Given the description of an element on the screen output the (x, y) to click on. 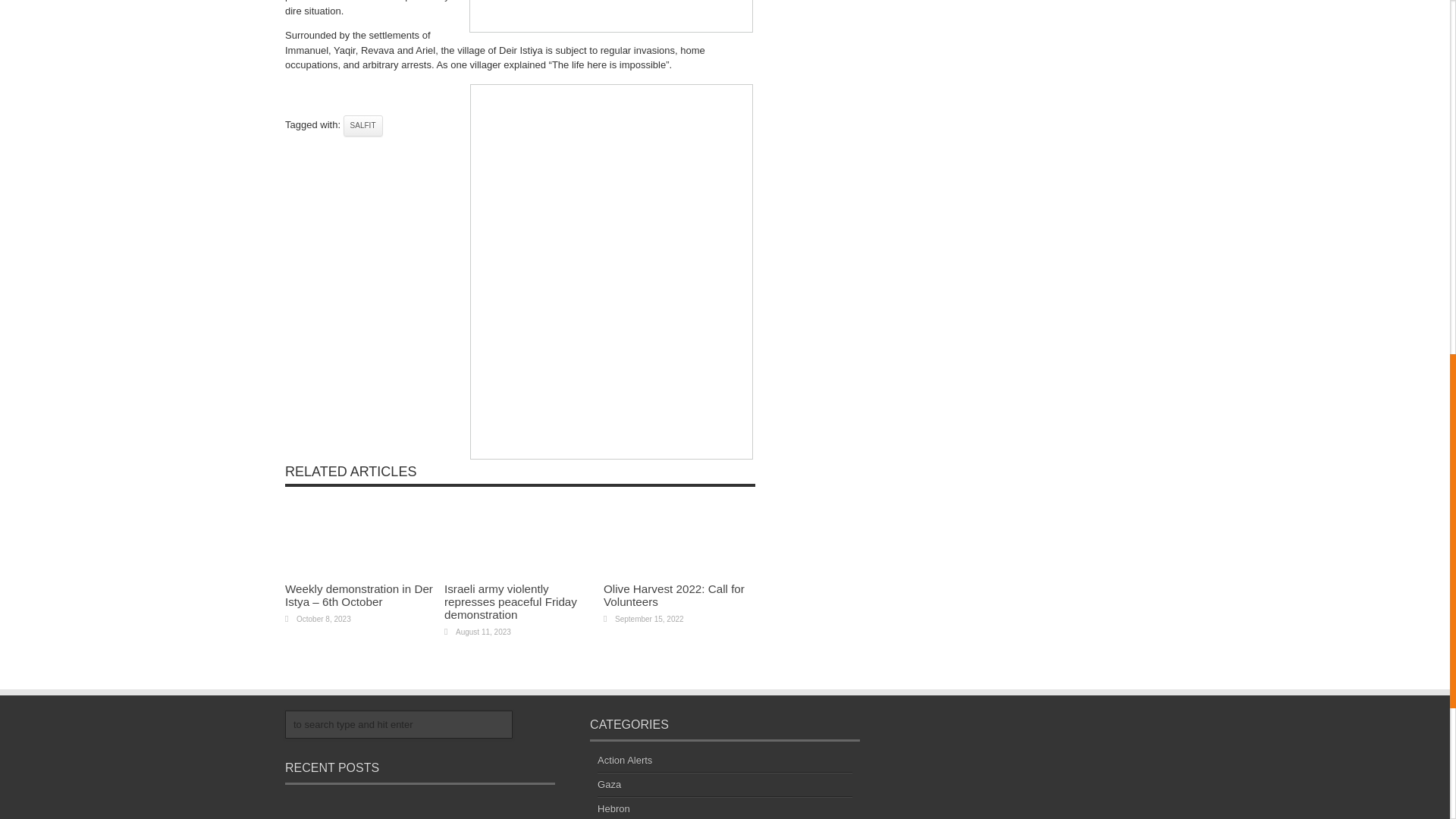
SALFIT (362, 125)
to search type and hit enter (398, 723)
Olive Harvest 2022: Call for Volunteers (674, 595)
